Given the description of an element on the screen output the (x, y) to click on. 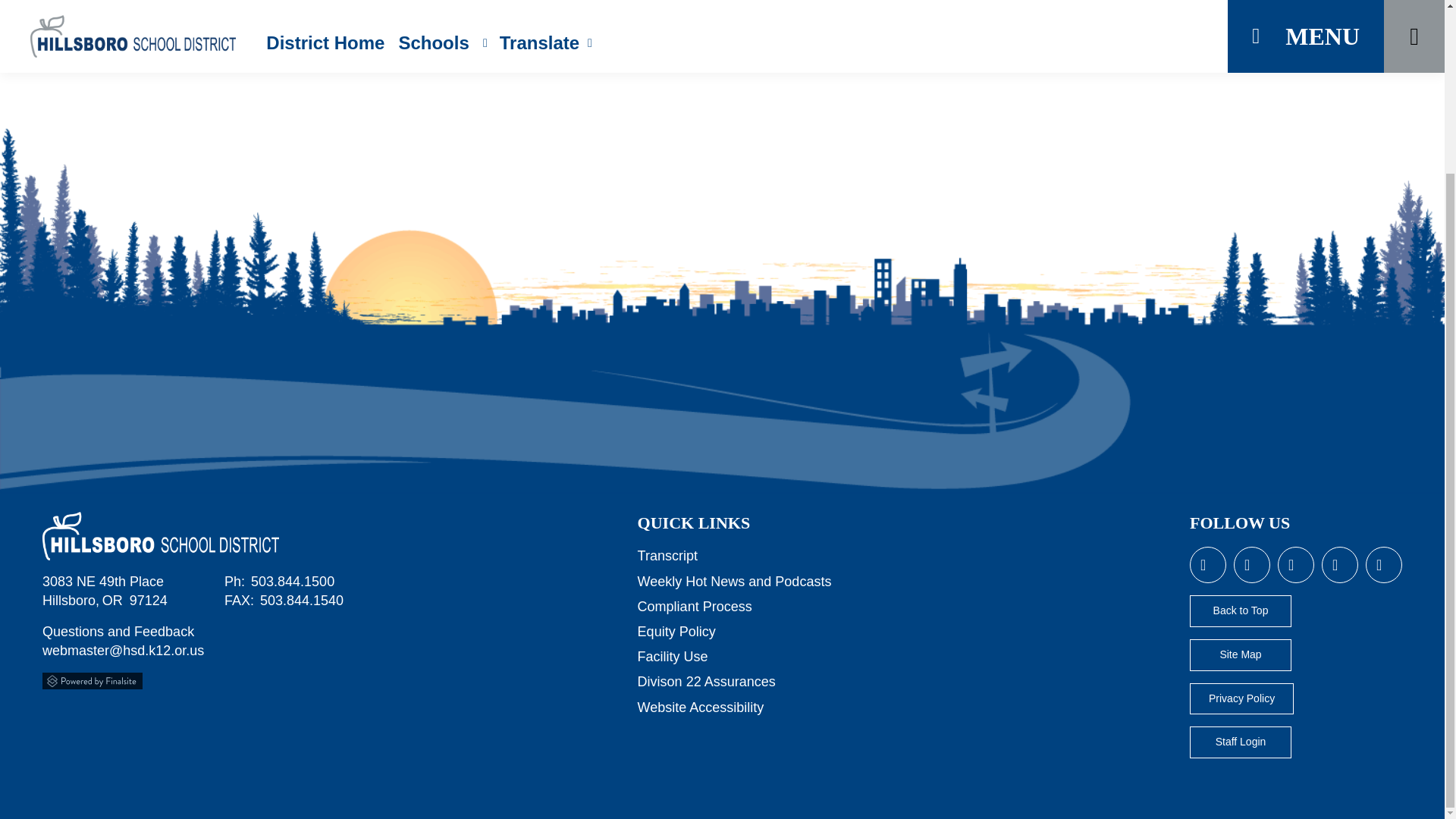
Powered by Finalsite opens in a new window (92, 680)
Email (122, 650)
